Given the description of an element on the screen output the (x, y) to click on. 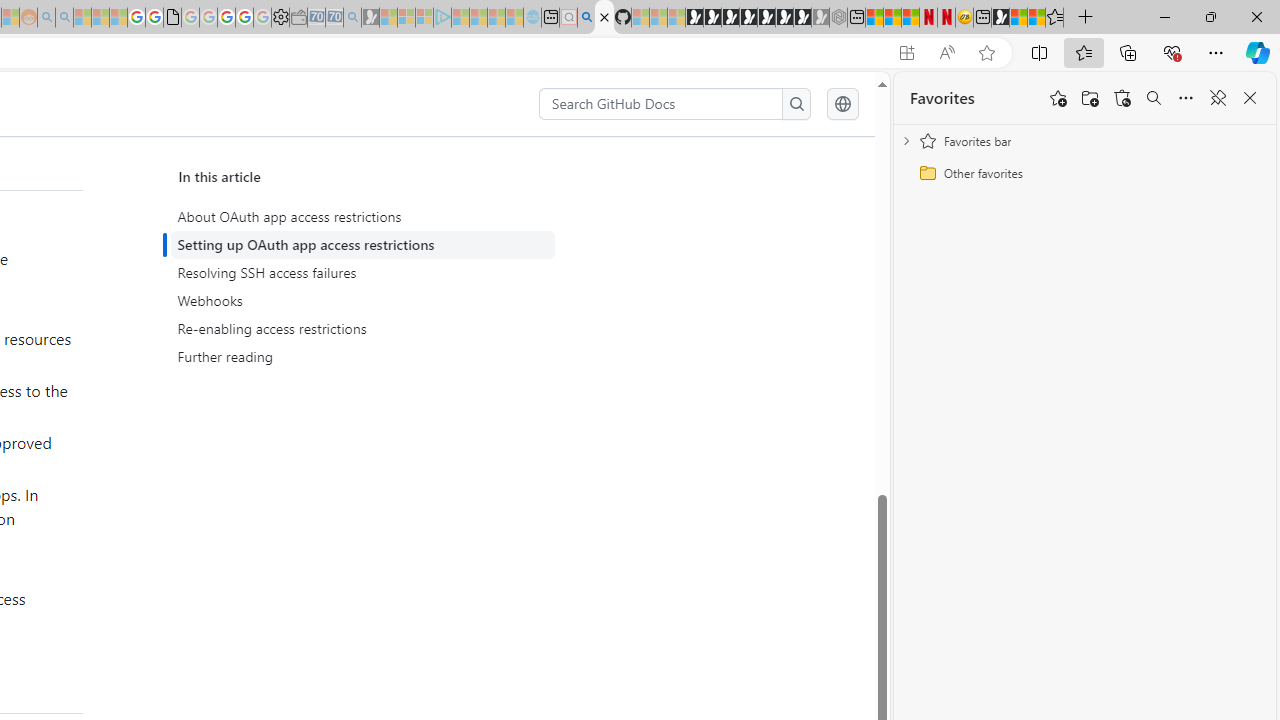
Resolving SSH access failures (362, 273)
Restore deleted favorites (1122, 98)
Select language: current language is English (842, 103)
Search GitHub Docs (661, 103)
App available. Install GitHub Docs (906, 53)
Further reading (365, 356)
Webhooks (362, 301)
Add this page to favorites (1058, 98)
